Given the description of an element on the screen output the (x, y) to click on. 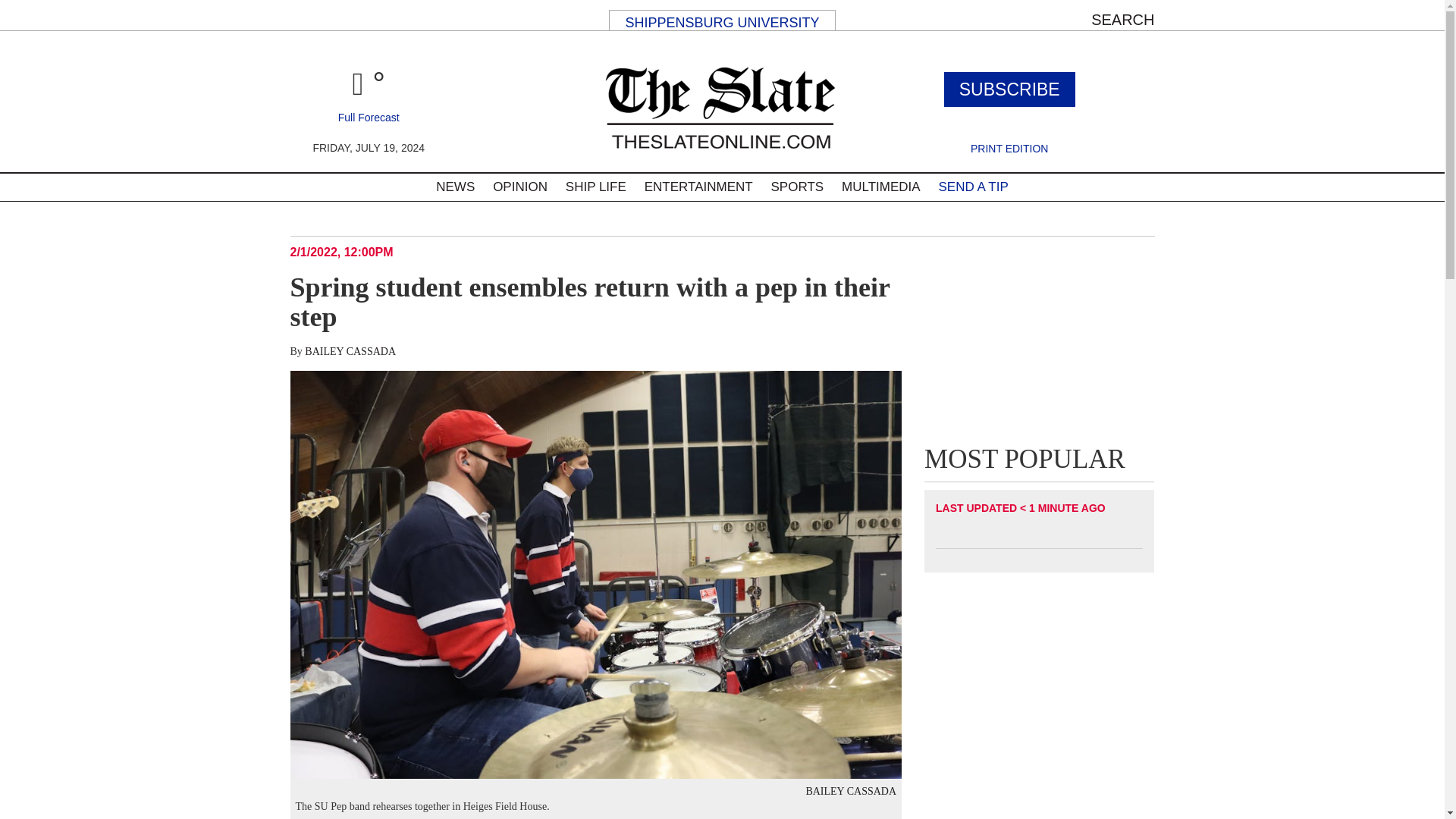
PRINT EDITION (1009, 148)
OPINION (519, 186)
SEND A TIP (972, 186)
Full Forecast (367, 117)
NEWS (454, 186)
SUBSCRIBE (1009, 89)
SPORTS (796, 186)
MULTIMEDIA (881, 186)
SHIP LIFE (595, 186)
SEARCH (1122, 20)
ENTERTAINMENT (698, 186)
